Given the description of an element on the screen output the (x, y) to click on. 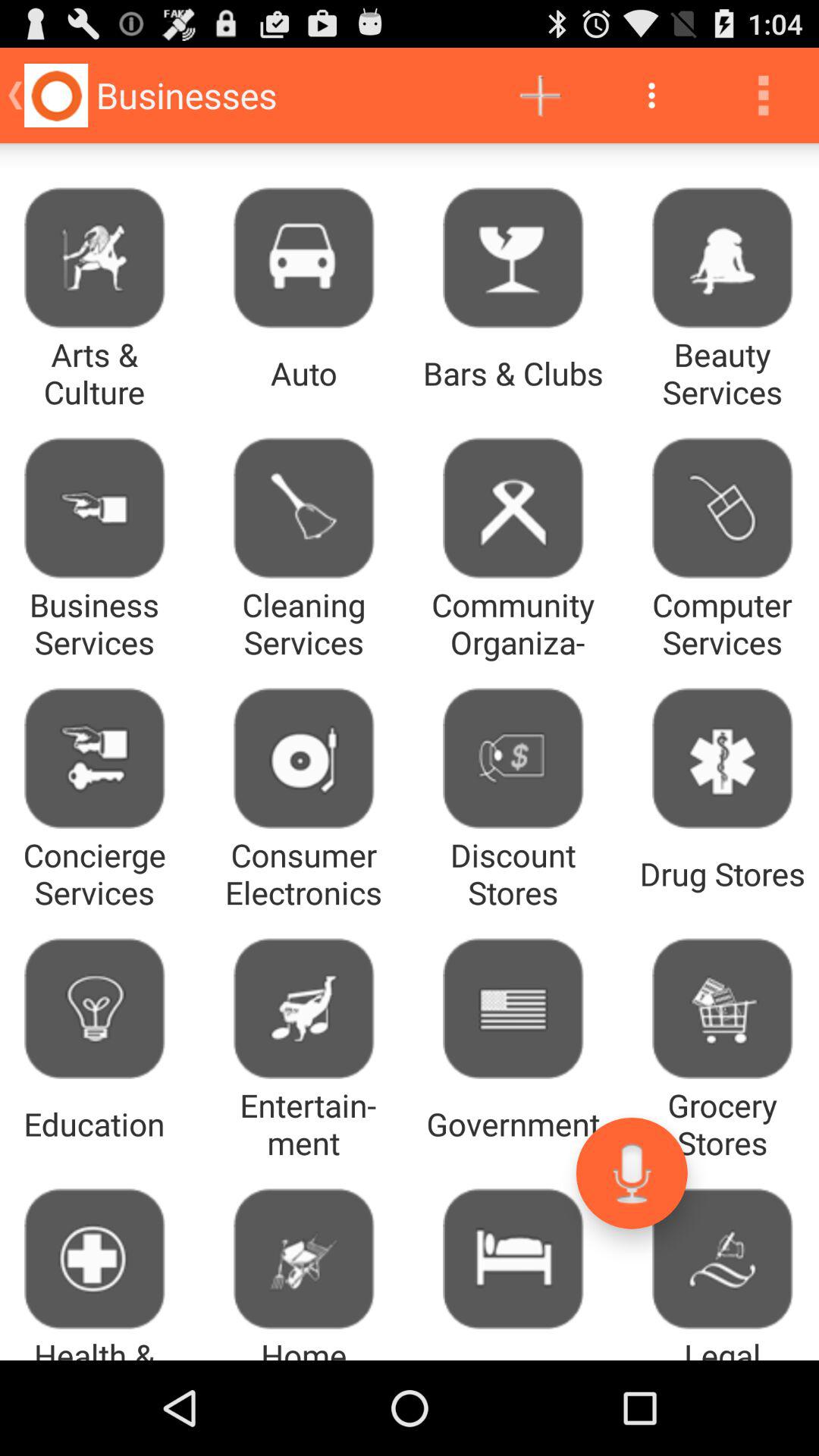
choose app above legal services icon (631, 1173)
